Given the description of an element on the screen output the (x, y) to click on. 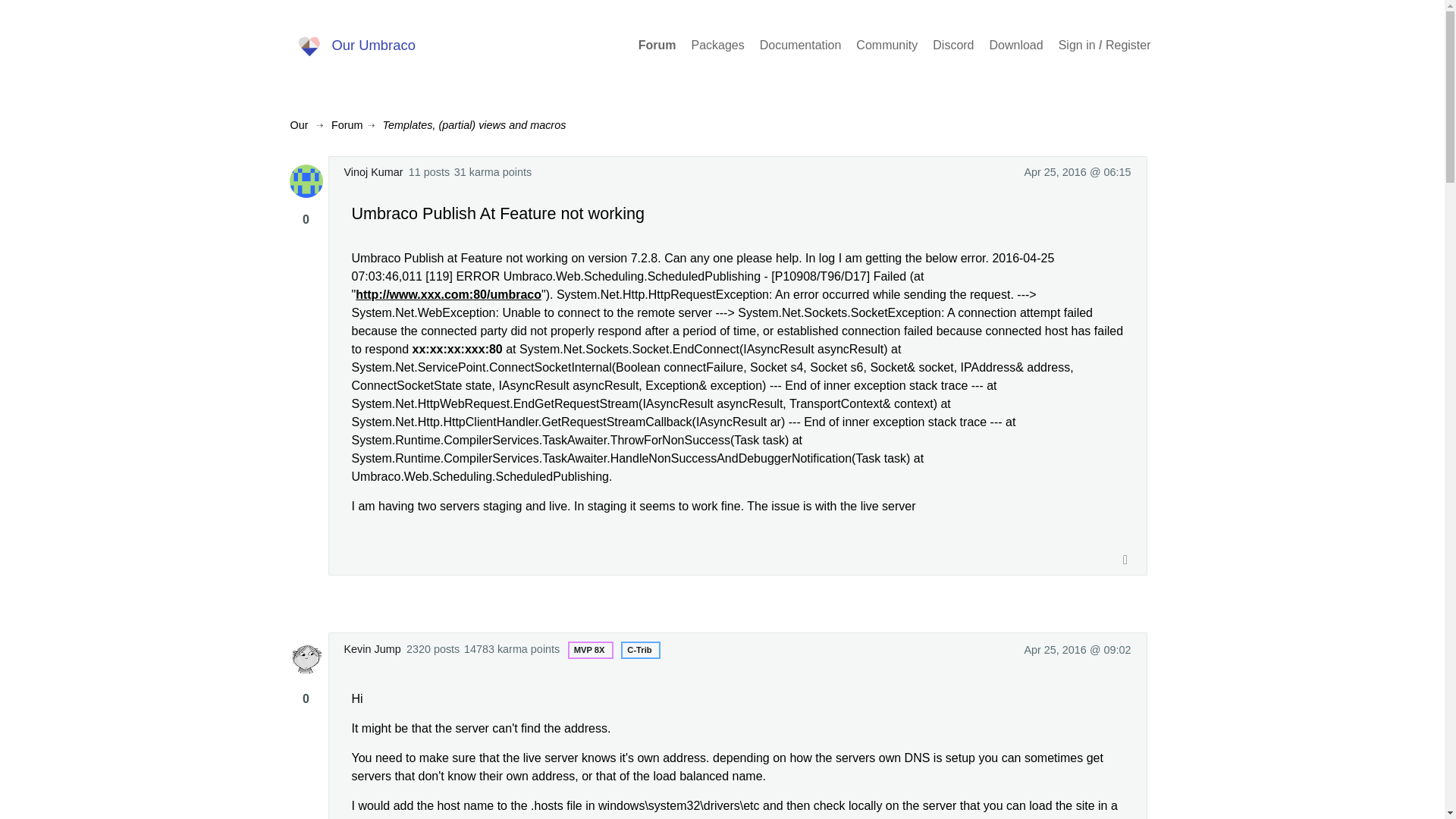
Register (1128, 45)
Packages (717, 45)
Discord (953, 45)
MVP 8X (589, 650)
Forum (658, 45)
Forum (346, 124)
Kevin Jump (372, 649)
Community (886, 45)
Our Umbraco (354, 44)
Our (298, 124)
